Given the description of an element on the screen output the (x, y) to click on. 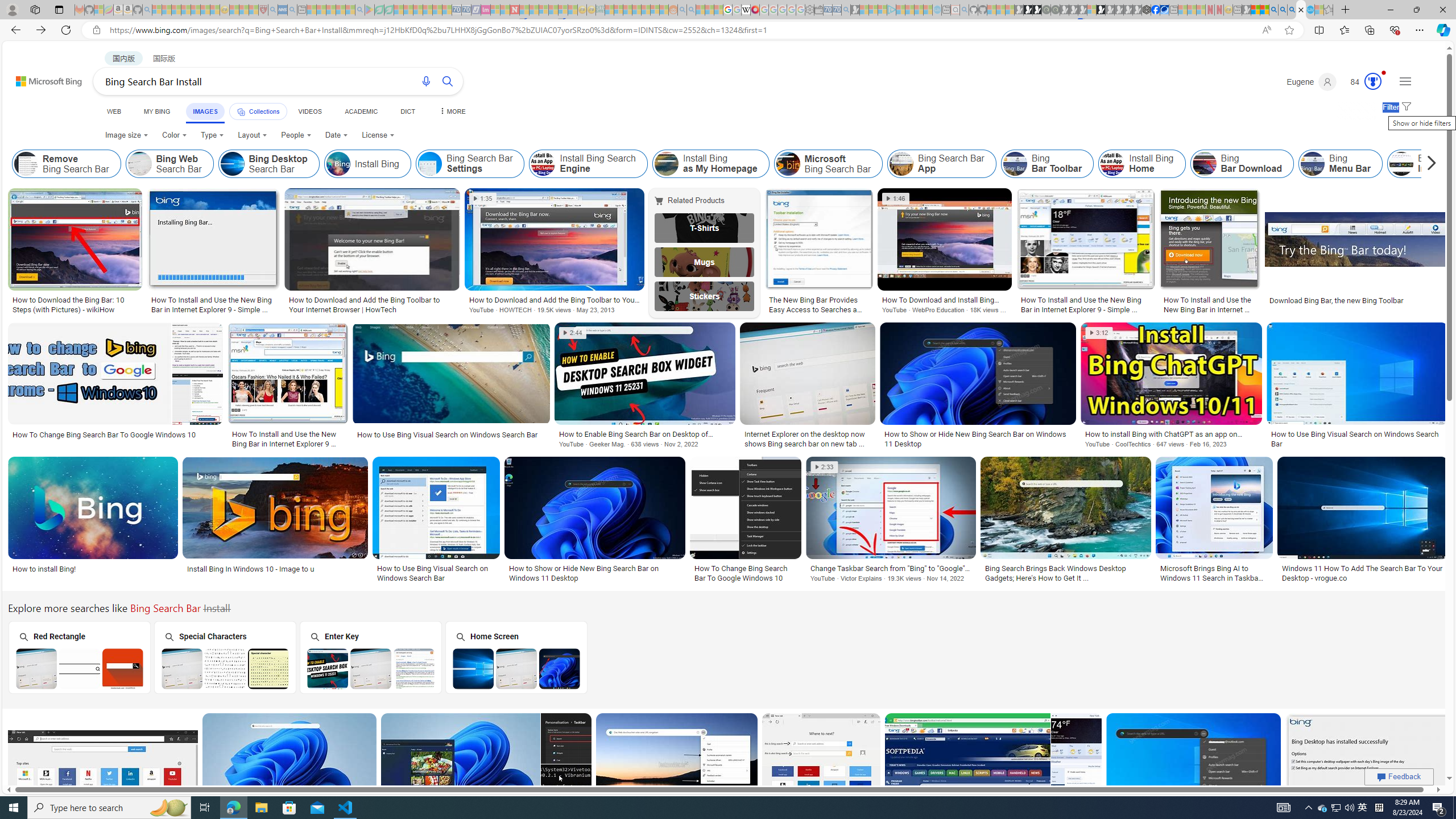
Color (173, 135)
Install Bing as My Homepage (665, 163)
DICT (407, 111)
How to install Bing! (93, 568)
AutomationID: serp_medal_svg (1372, 81)
